Given the description of an element on the screen output the (x, y) to click on. 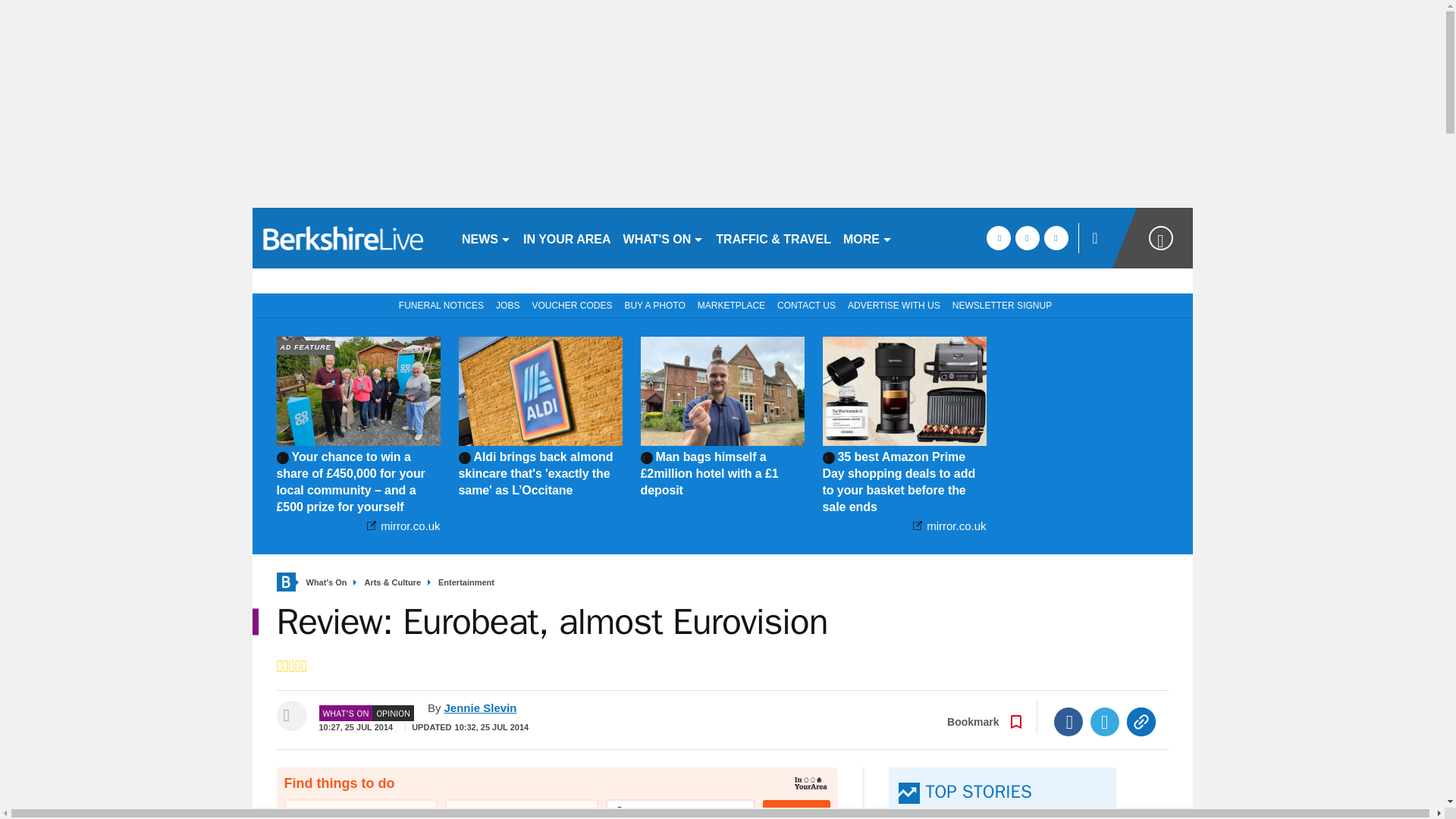
WHAT'S ON (663, 238)
Twitter (1104, 721)
getreading (349, 238)
IN YOUR AREA (566, 238)
MORE (867, 238)
twitter (1026, 238)
NEWS (485, 238)
Facebook (1068, 721)
facebook (997, 238)
instagram (1055, 238)
